Given the description of an element on the screen output the (x, y) to click on. 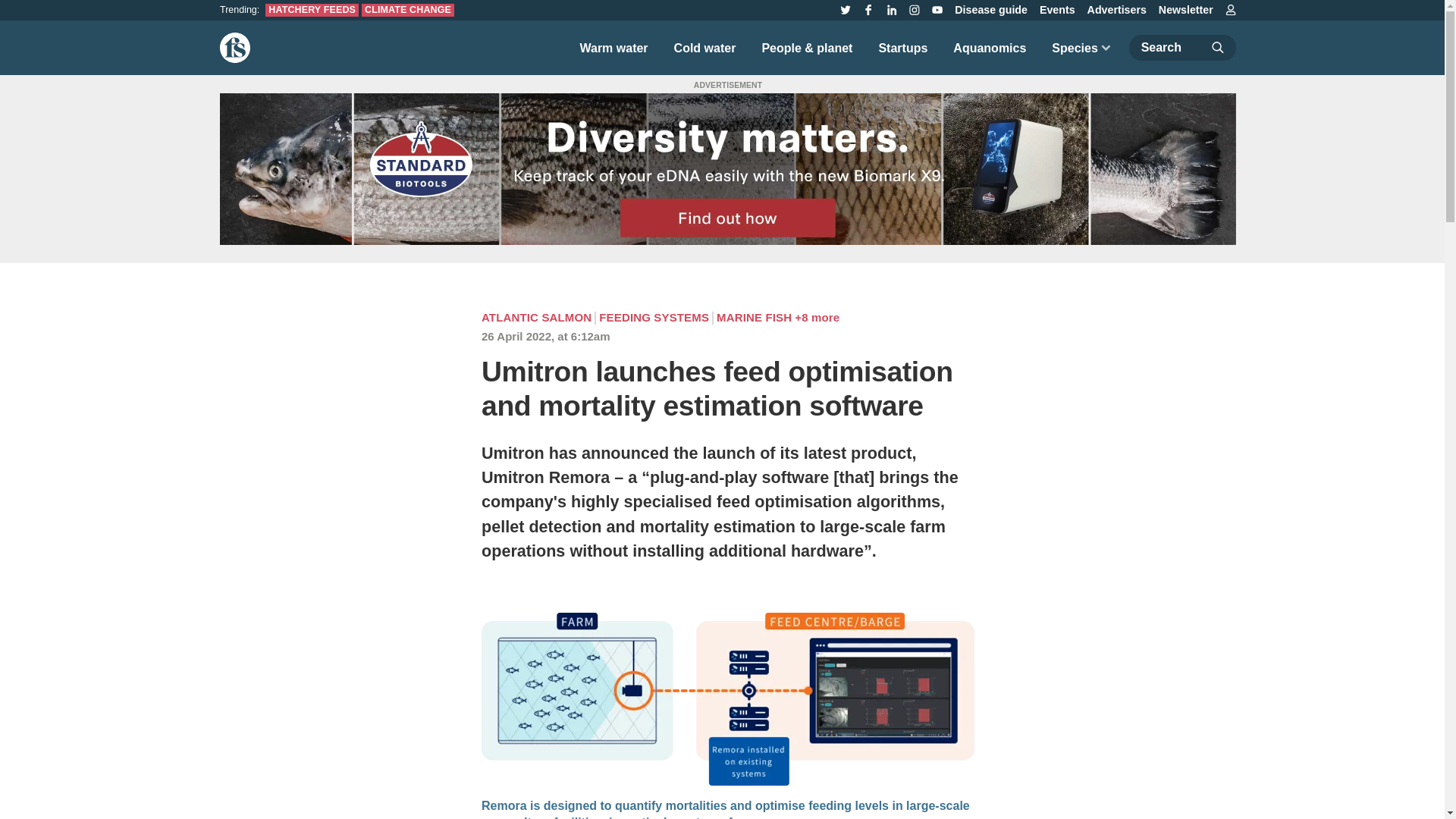
Instagram (914, 9)
YouTube (936, 9)
Aquanomics (989, 47)
Return to The Fish Site homepage (234, 47)
Startups (902, 47)
Warm water (613, 47)
Facebook (868, 9)
LinkedIn (891, 9)
Cold water (705, 47)
Advertisers (1117, 10)
Twitter (845, 9)
